Given the description of an element on the screen output the (x, y) to click on. 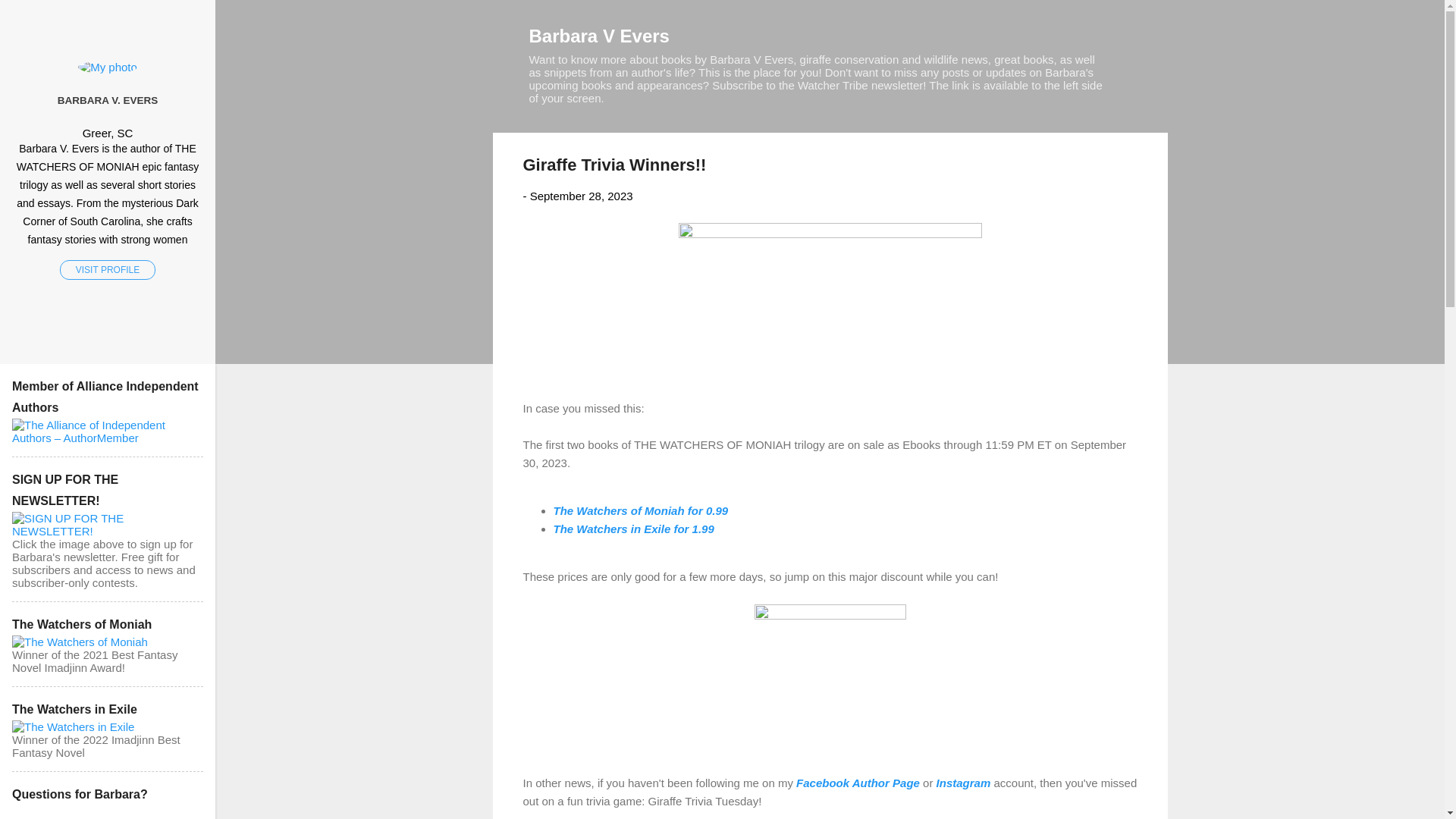
The Watchers in Exile for 1.99 (633, 527)
Search (29, 18)
Facebook Author Page (858, 782)
Barbara V Evers (599, 35)
September 28, 2023 (581, 195)
The Watchers of Moniah for 0.99 (641, 509)
Instagram (963, 782)
permanent link (581, 195)
